Given the description of an element on the screen output the (x, y) to click on. 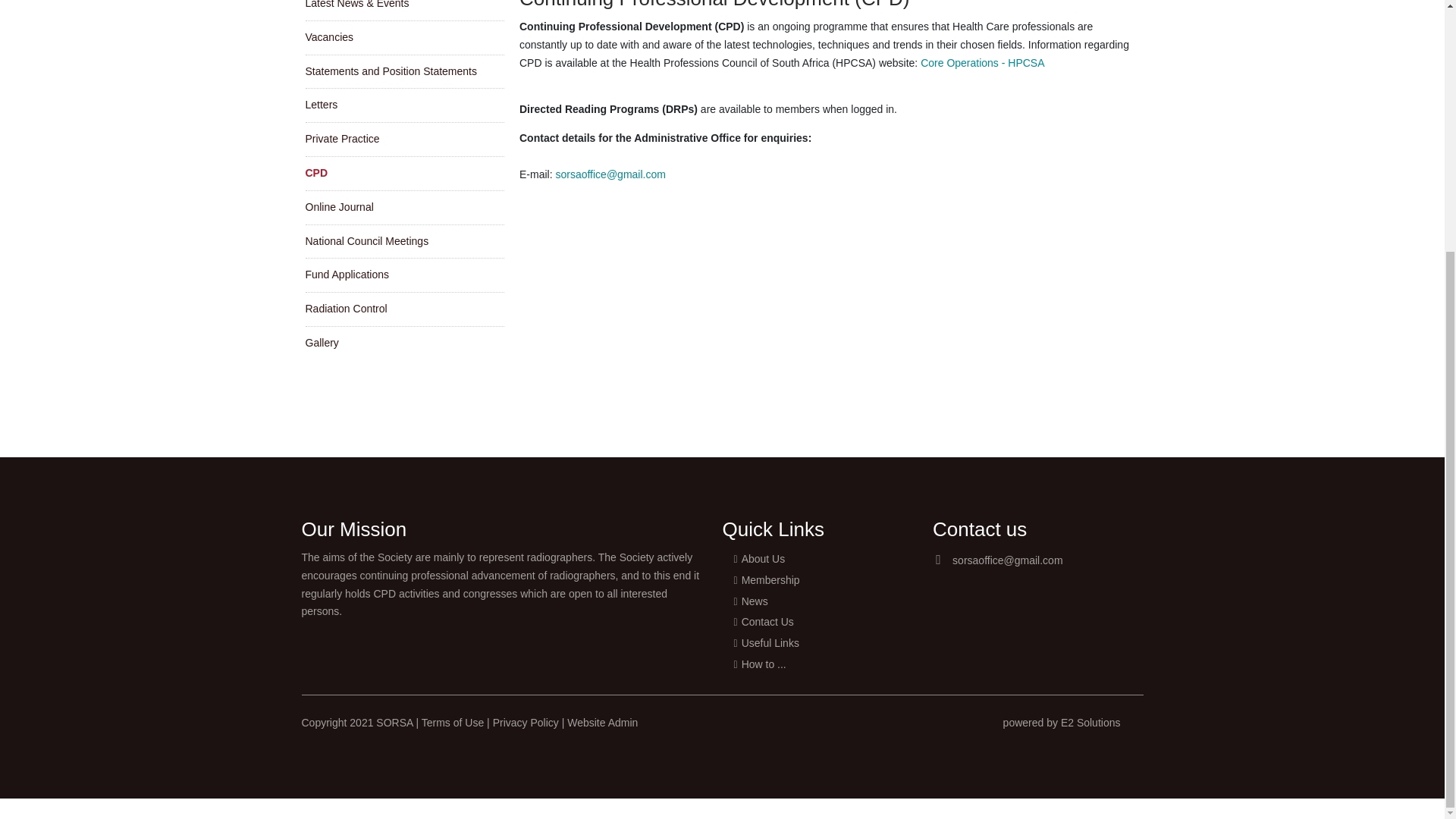
Useful Links (822, 643)
Radiation Control (403, 308)
E2 Solutions (1091, 722)
Contact Us (822, 622)
Statements and Position Statements (403, 71)
How to (822, 664)
Fund Applications (403, 274)
News (822, 601)
Gallery (403, 343)
Online Journal (403, 207)
Core Operations - HPCSA (981, 62)
National Council Meetings (403, 241)
Private Practice (403, 139)
Website Admin (602, 722)
How to ... (822, 664)
